Given the description of an element on the screen output the (x, y) to click on. 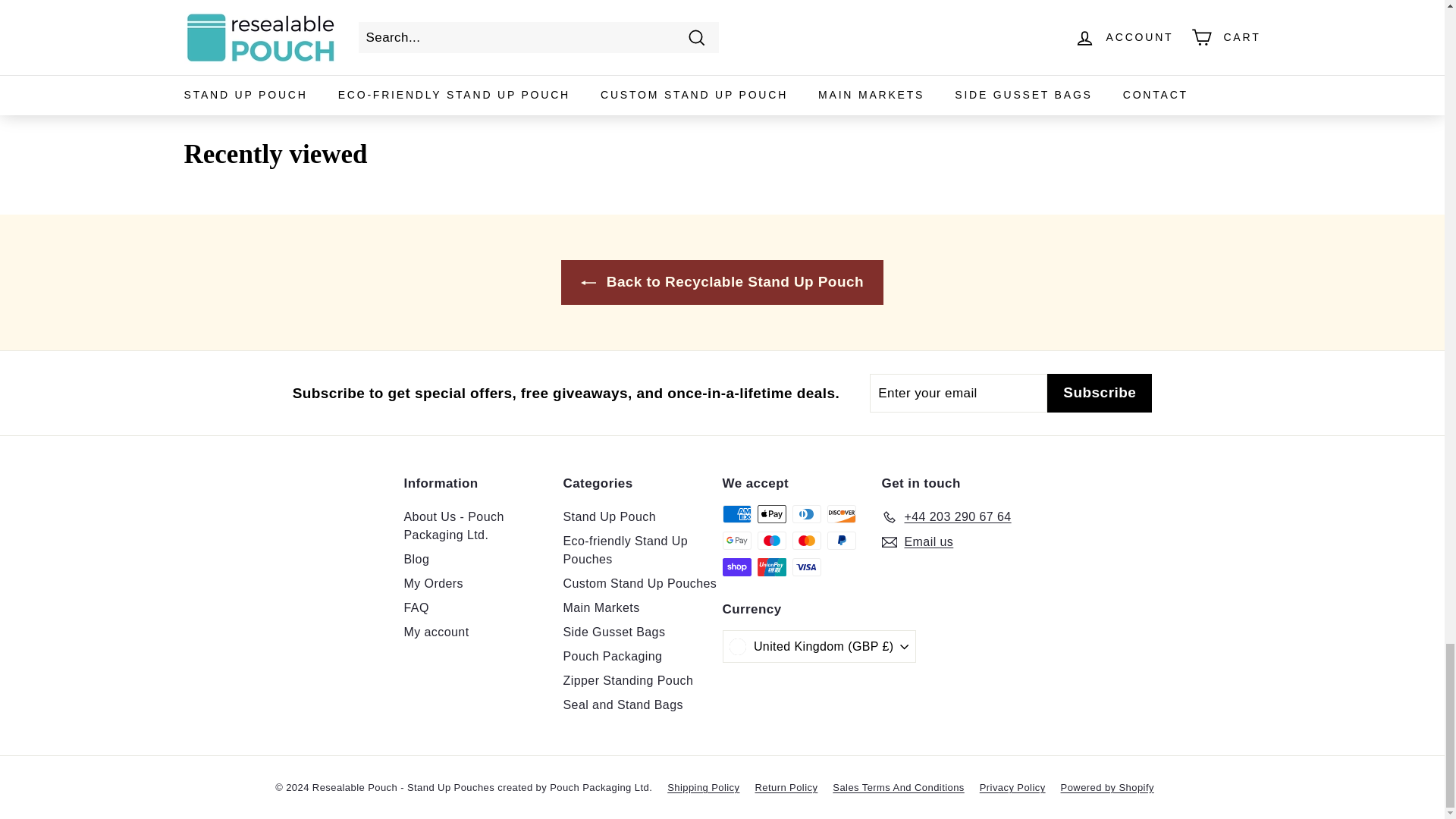
PayPal (841, 540)
Google Pay (736, 540)
American Express (736, 514)
Union Pay (771, 566)
Apple Pay (771, 514)
Discover (841, 514)
Mastercard (806, 540)
Maestro (771, 540)
Shop Pay (736, 566)
Diners Club (806, 514)
